Given the description of an element on the screen output the (x, y) to click on. 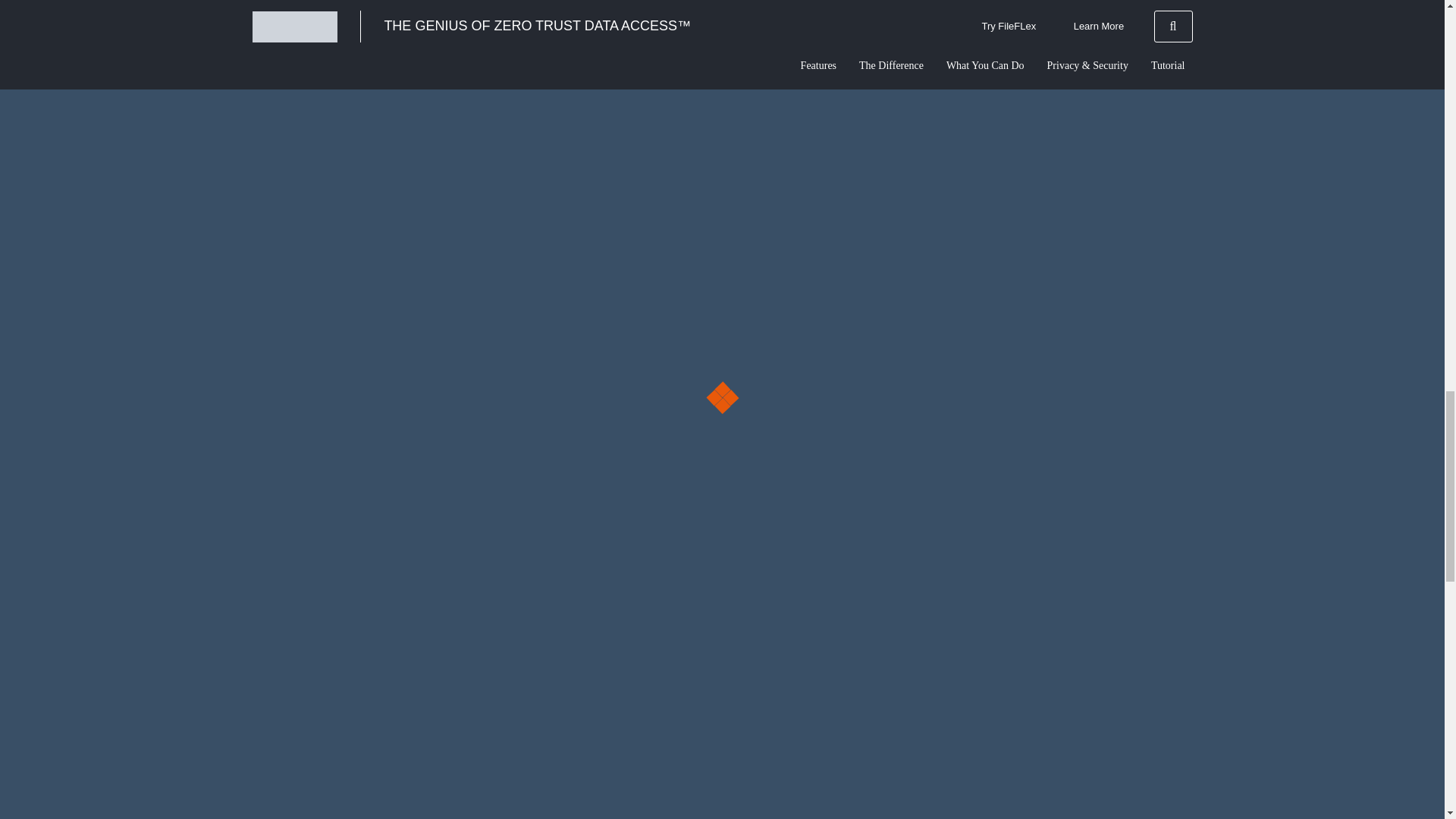
How Drobo and FileFlex Protect Your Files (786, 356)
